Given the description of an element on the screen output the (x, y) to click on. 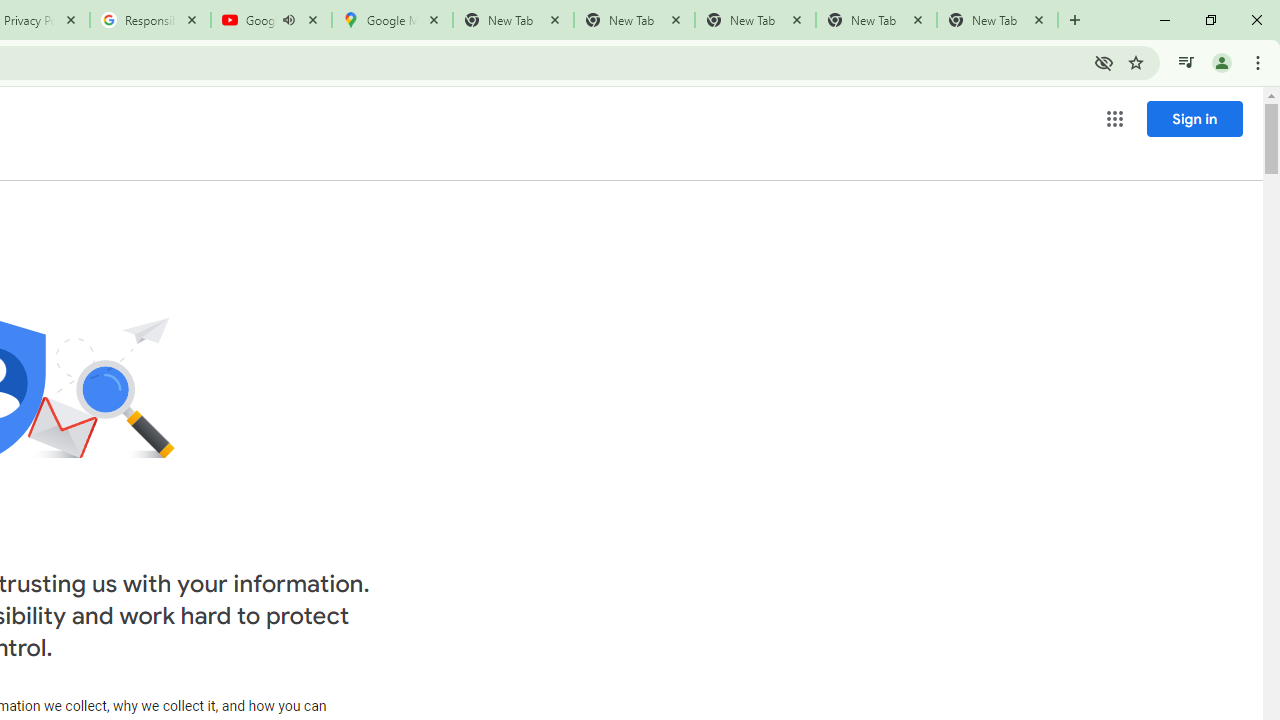
New Tab (997, 20)
Control your music, videos, and more (1185, 62)
Google Maps (392, 20)
